Given the description of an element on the screen output the (x, y) to click on. 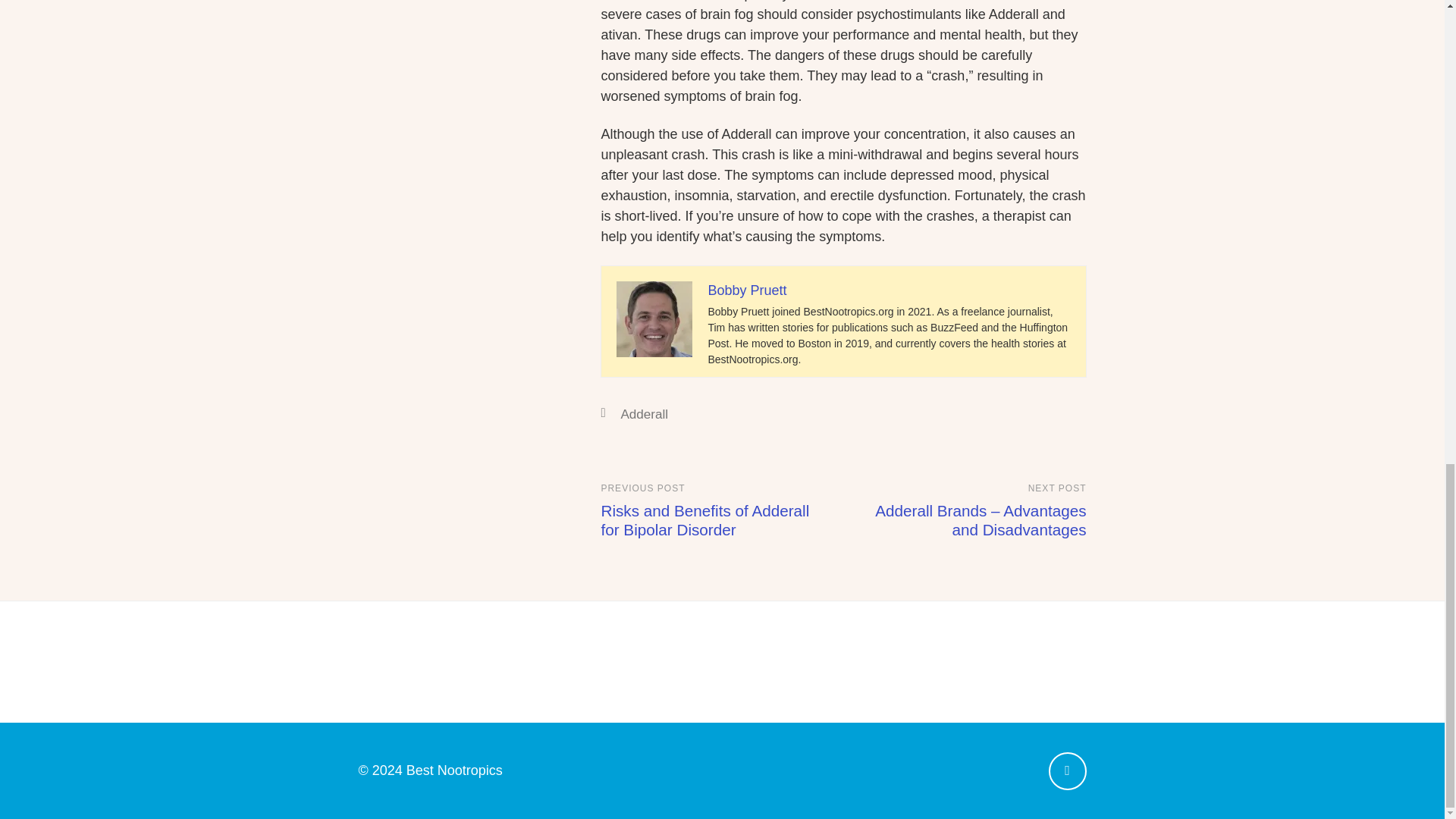
Adderall (644, 414)
Best Nootropics (454, 770)
Go back to the top (1067, 771)
Bobby Pruett (746, 290)
